Given the description of an element on the screen output the (x, y) to click on. 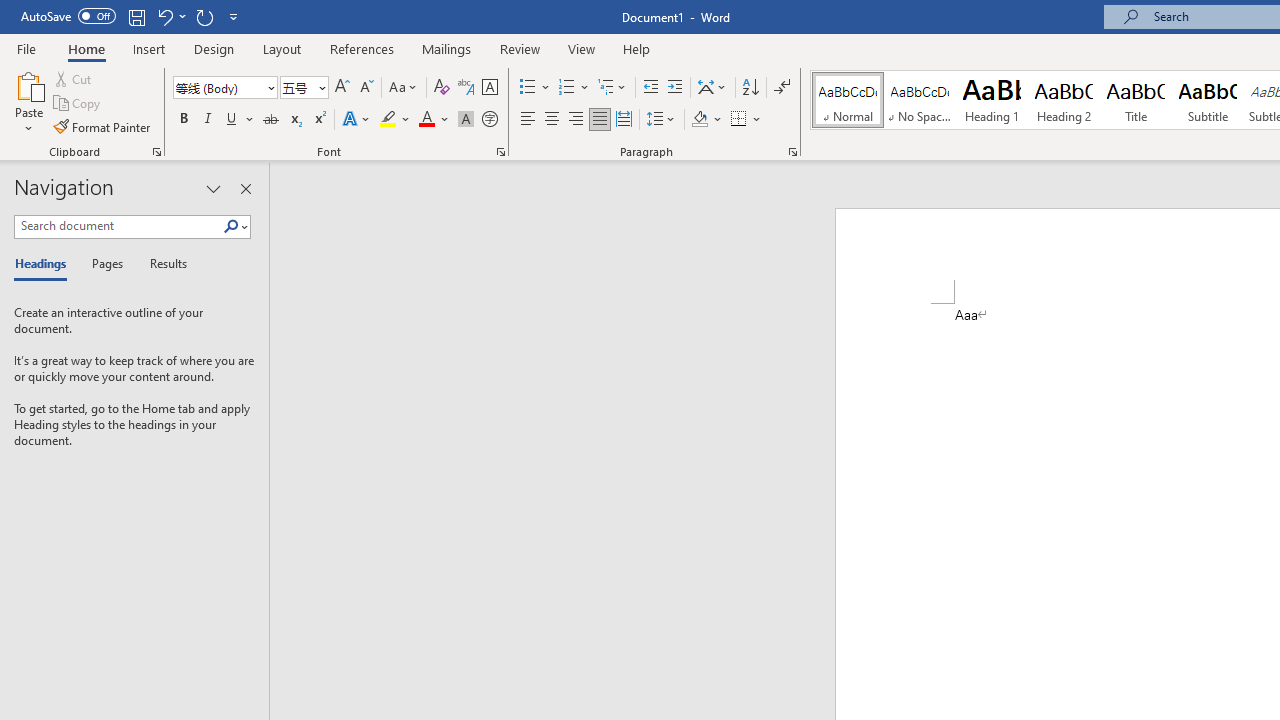
Undo AutoCorrect (164, 15)
